Given the description of an element on the screen output the (x, y) to click on. 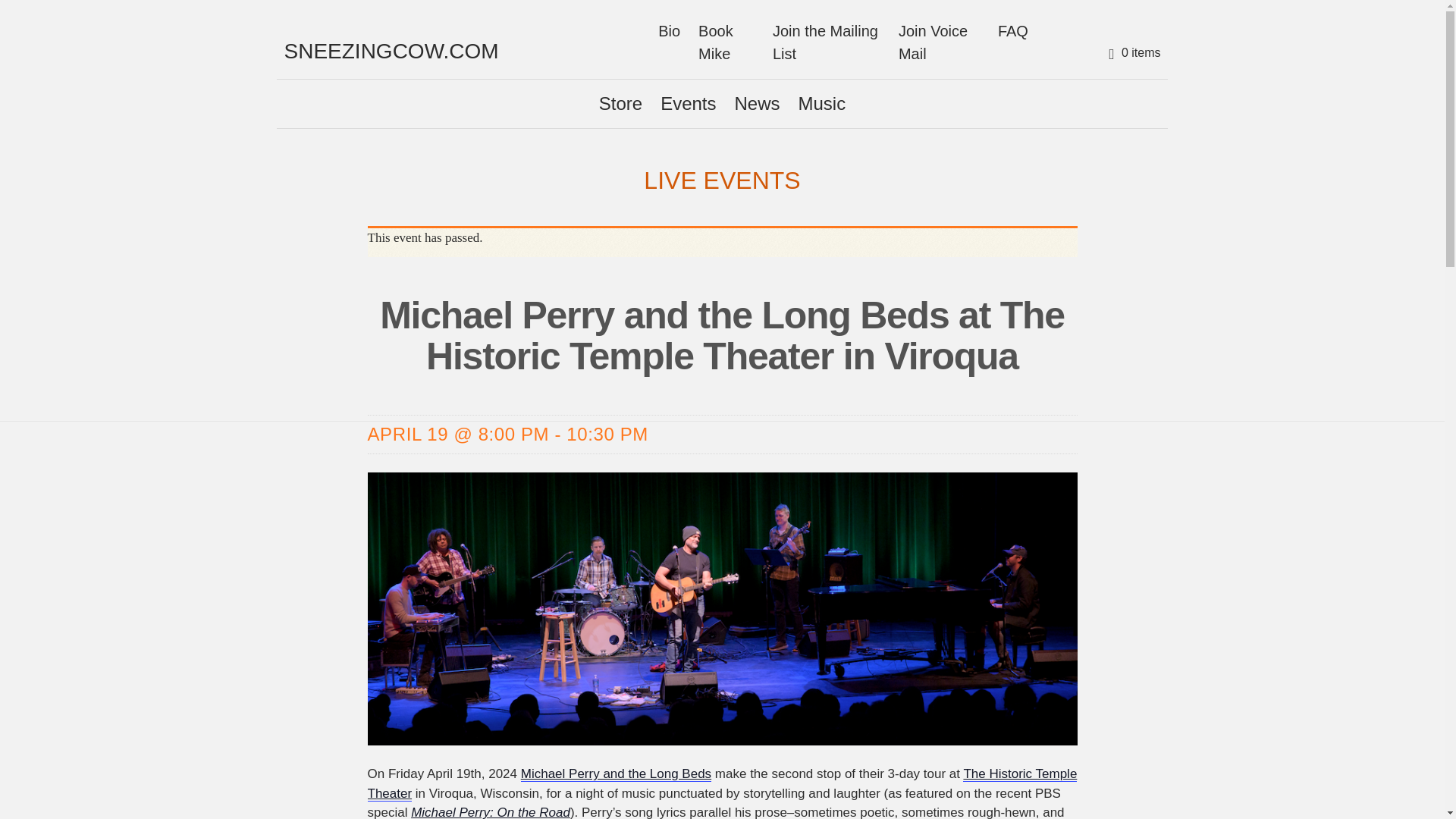
SNEEZINGCOW.COM (390, 51)
Michael Perry and the Long Beds (616, 774)
Books, CDs, the infamous sneezing cow t-shirt, and more. (620, 103)
Music (821, 103)
Events (687, 103)
View your shopping cart (1132, 52)
Bio (668, 31)
News (756, 103)
Michael Perry: On the Road (490, 812)
The Historic Temple Theater (721, 783)
FAQ (1012, 31)
0 items (1132, 52)
Join the Mailing List (826, 42)
Join Voice Mail (939, 42)
Store (620, 103)
